Given the description of an element on the screen output the (x, y) to click on. 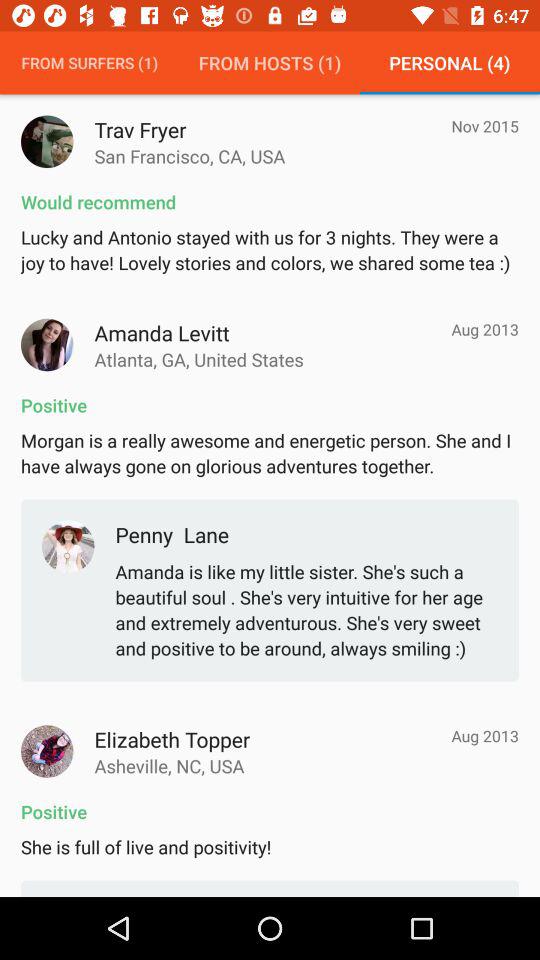
press to enlarge picture (47, 344)
